Given the description of an element on the screen output the (x, y) to click on. 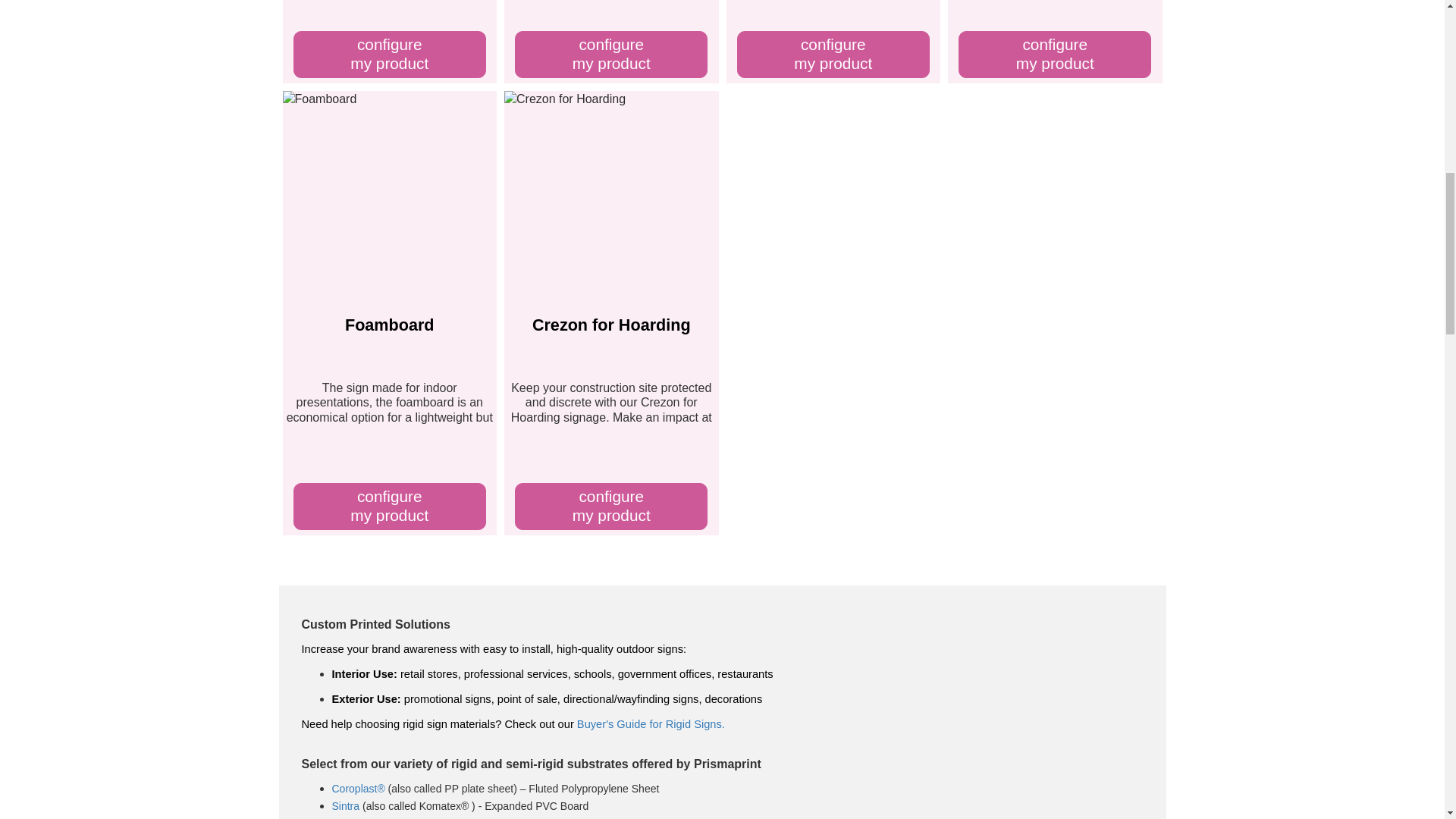
Sintra (390, 54)
Buyer's Guide for Rigid Signs. (611, 506)
